Given the description of an element on the screen output the (x, y) to click on. 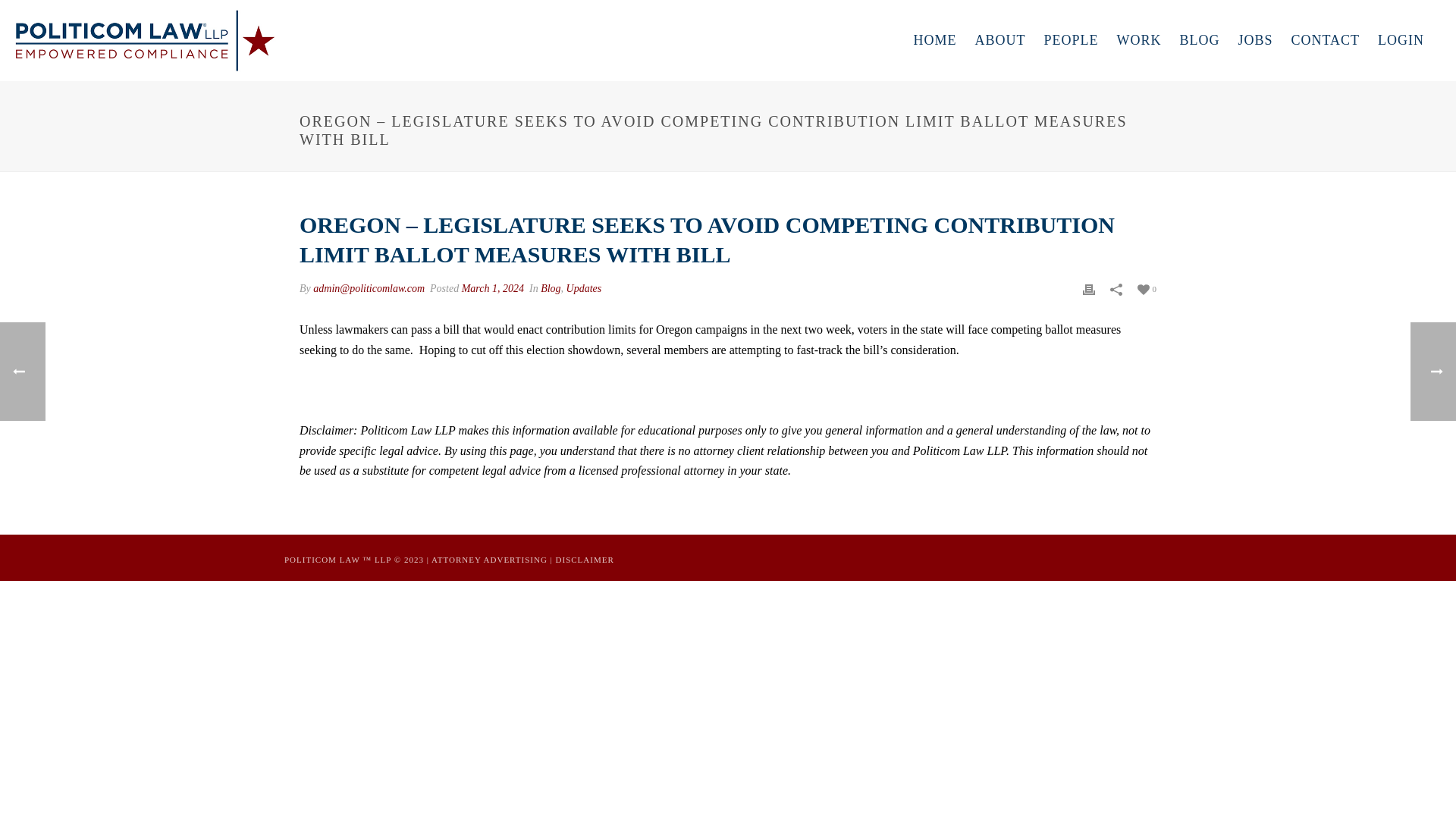
Blog (550, 288)
Empowered Compliance (145, 40)
PEOPLE (1069, 40)
CONTACT (1324, 40)
Updates (584, 288)
March 1, 2024 (492, 288)
PEOPLE (1069, 40)
0 (1146, 288)
CONTACT (1324, 40)
